Given the description of an element on the screen output the (x, y) to click on. 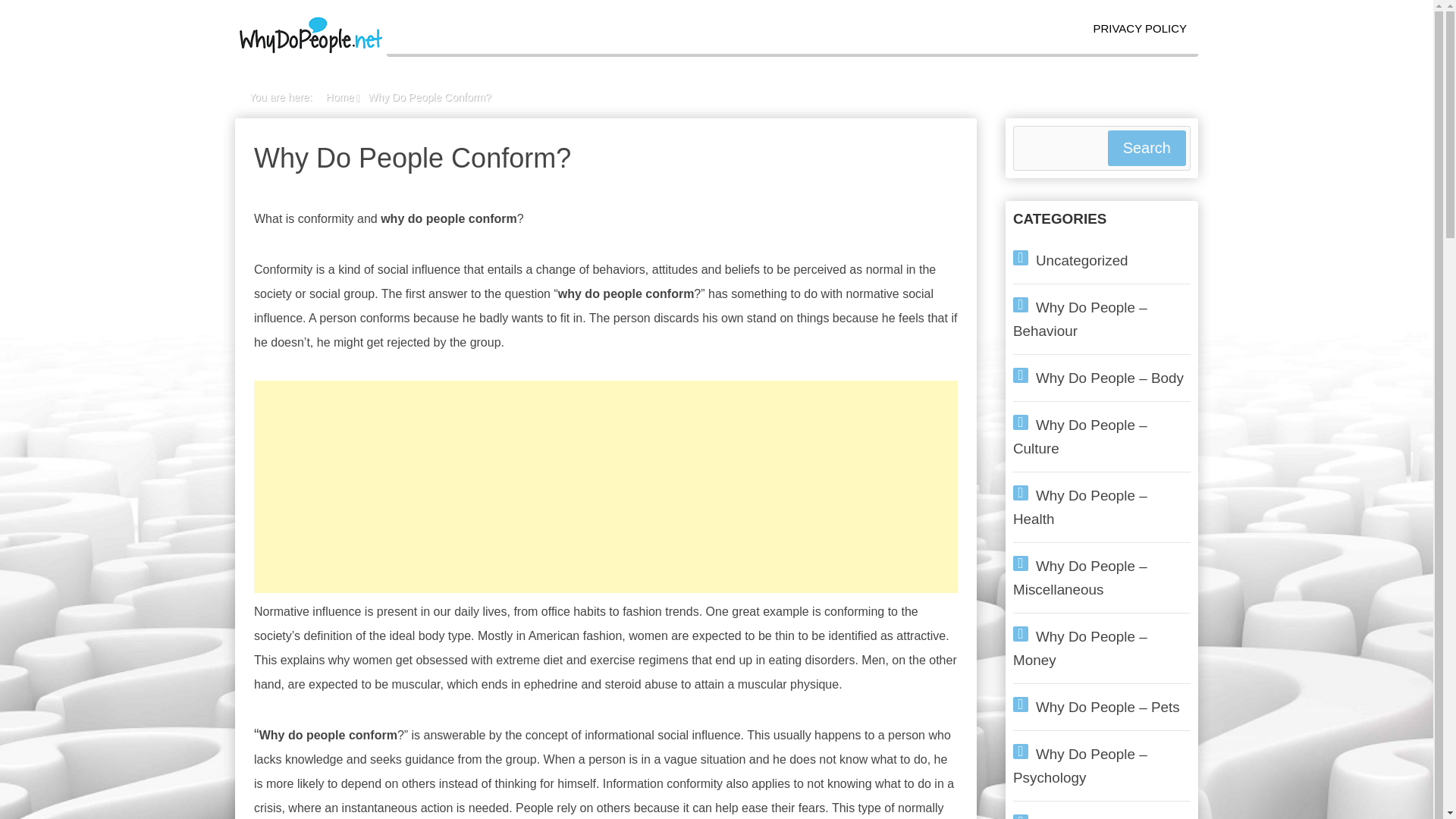
Uncategorized (1081, 260)
Home (339, 96)
PRIVACY POLICY (1139, 28)
Search (1147, 148)
